Given the description of an element on the screen output the (x, y) to click on. 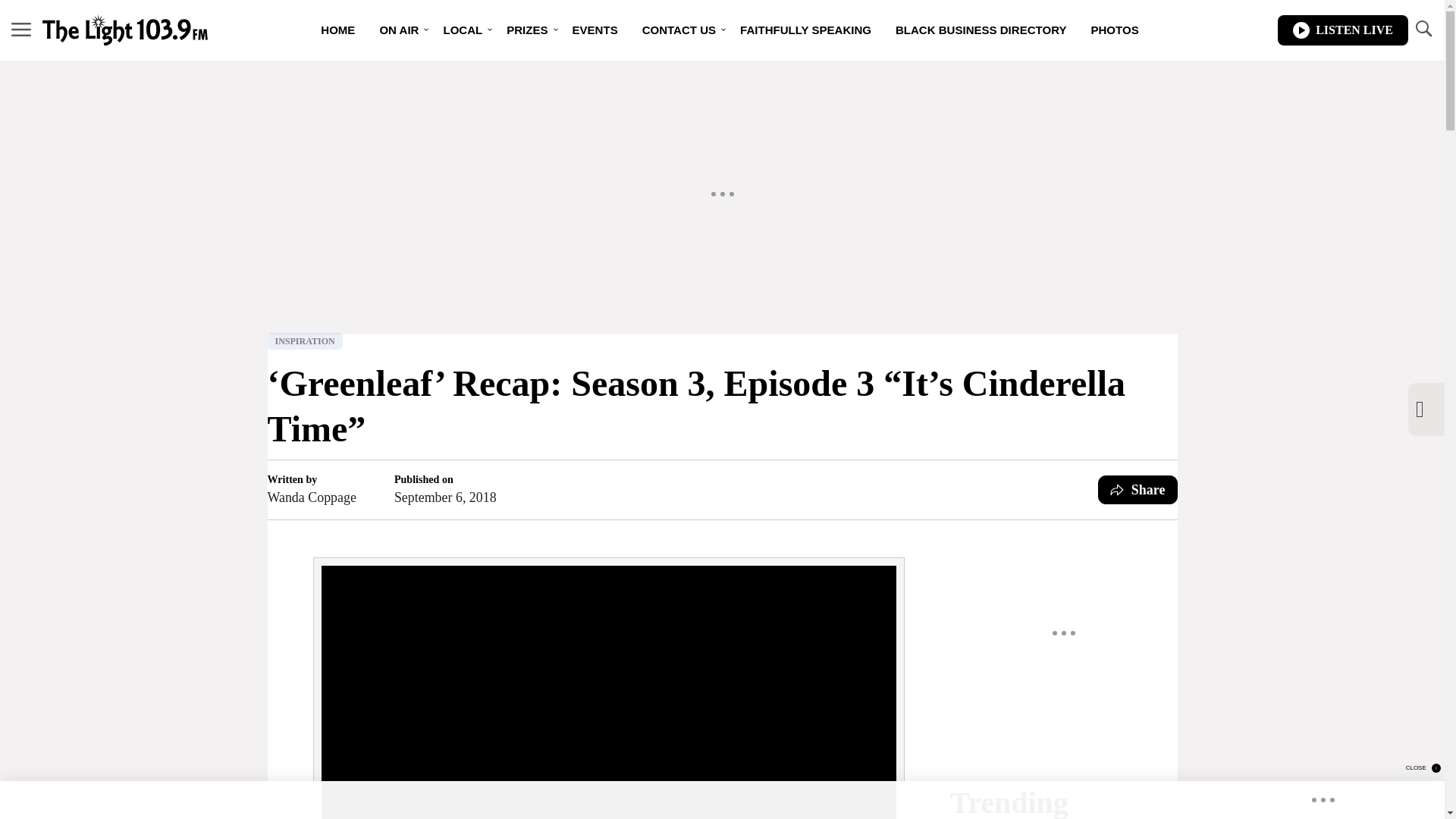
CONTACT US (679, 30)
TOGGLE SEARCH (1422, 30)
EVENTS (595, 30)
Wanda Coppage (310, 496)
MENU (20, 29)
FAITHFULLY SPEAKING (805, 30)
HOME (337, 30)
Share (1137, 489)
ON AIR (398, 30)
BLACK BUSINESS DIRECTORY (980, 30)
